Given the description of an element on the screen output the (x, y) to click on. 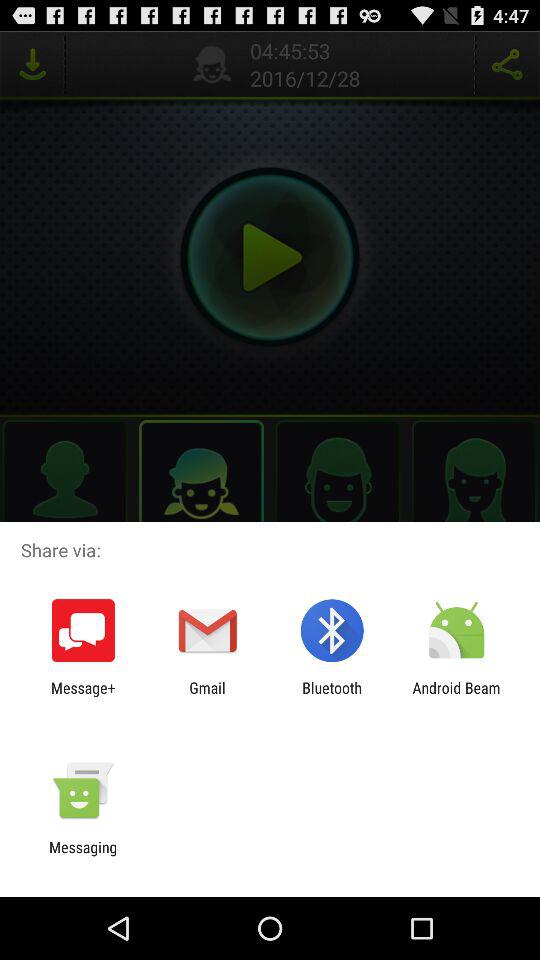
turn on the app at the bottom right corner (456, 696)
